Given the description of an element on the screen output the (x, y) to click on. 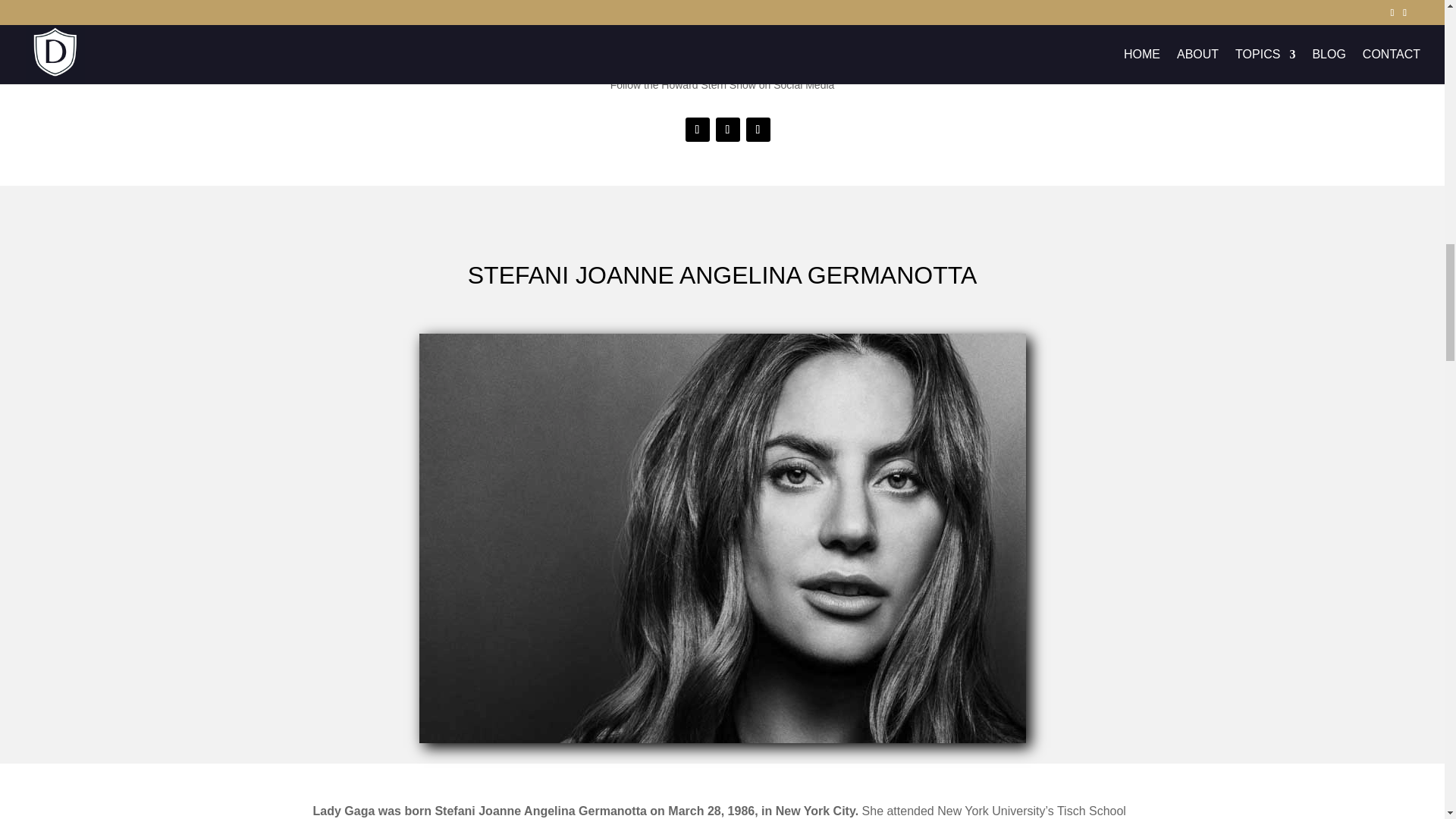
Howard Stern Video Performance  (938, 16)
Follow on Facebook (697, 129)
Lady Gaga performing on Stern Radio Show (505, 16)
Follow on Instagram (757, 129)
Follow on X (727, 129)
